Given the description of an element on the screen output the (x, y) to click on. 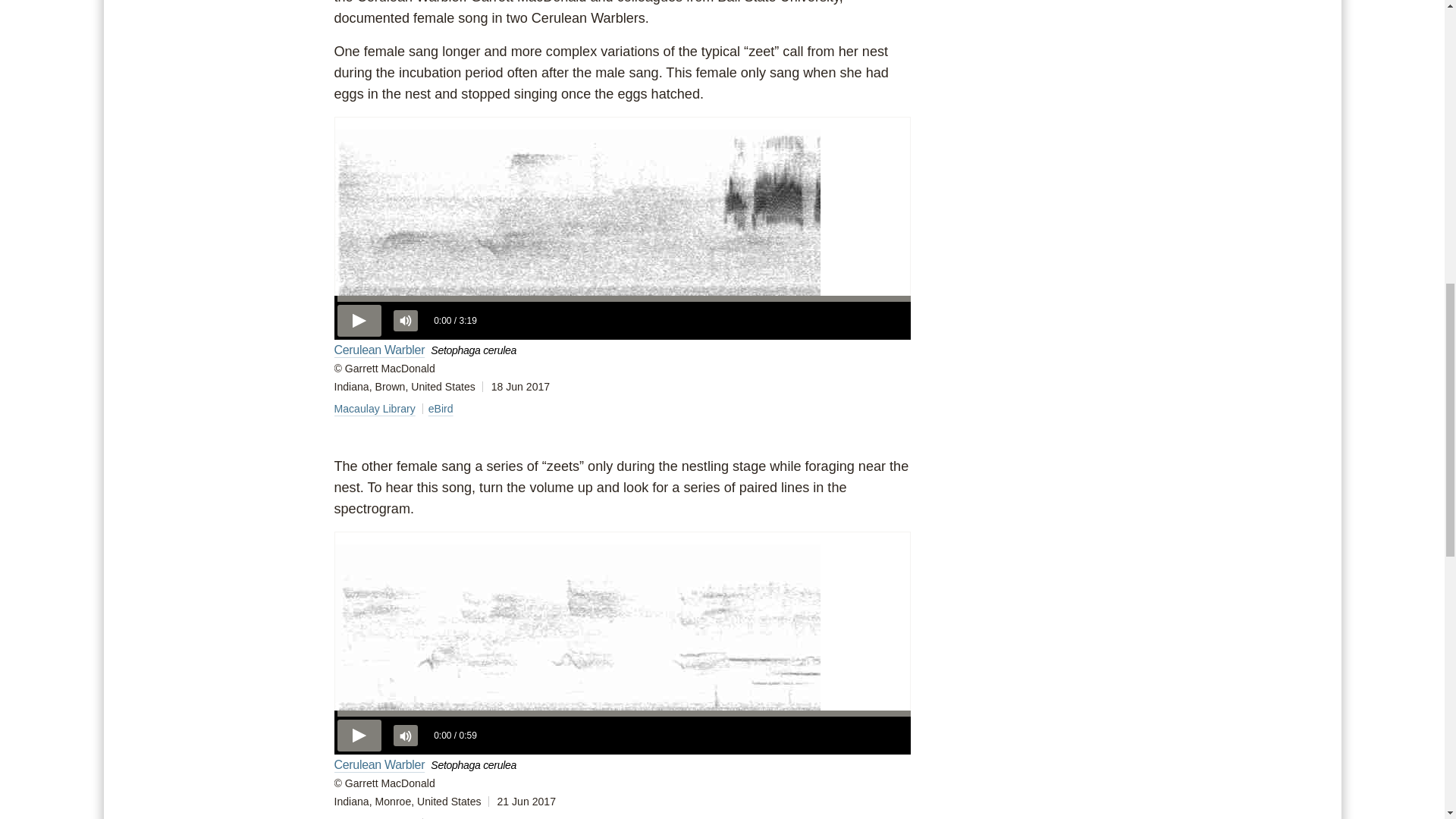
99.94 (621, 298)
eBird (440, 818)
Macaulay Library (373, 818)
Cerulean Warbler (379, 349)
Cerulean Warbler (379, 764)
Macaulay Library (373, 408)
mute (404, 735)
mute (404, 320)
eBird (440, 408)
